Given the description of an element on the screen output the (x, y) to click on. 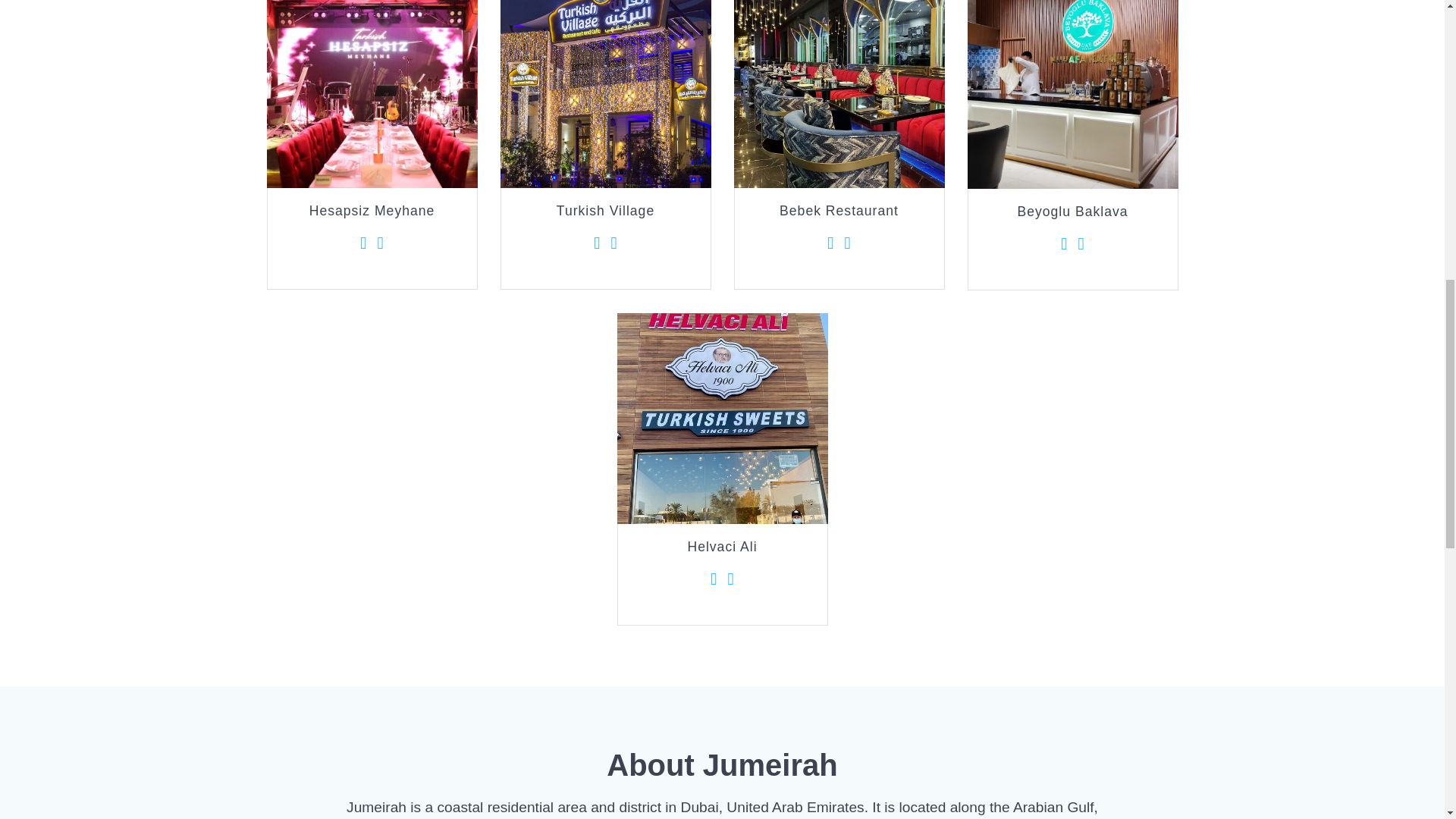
Helvaci Ali Jumeirah (722, 418)
Hesapsiz Meyhane Dubai (371, 93)
Turkish Village Restaurant (605, 93)
Beyoglu Baklava Dubai (1072, 94)
cropped-Bebek-Restaurant.jpg (838, 94)
